Given the description of an element on the screen output the (x, y) to click on. 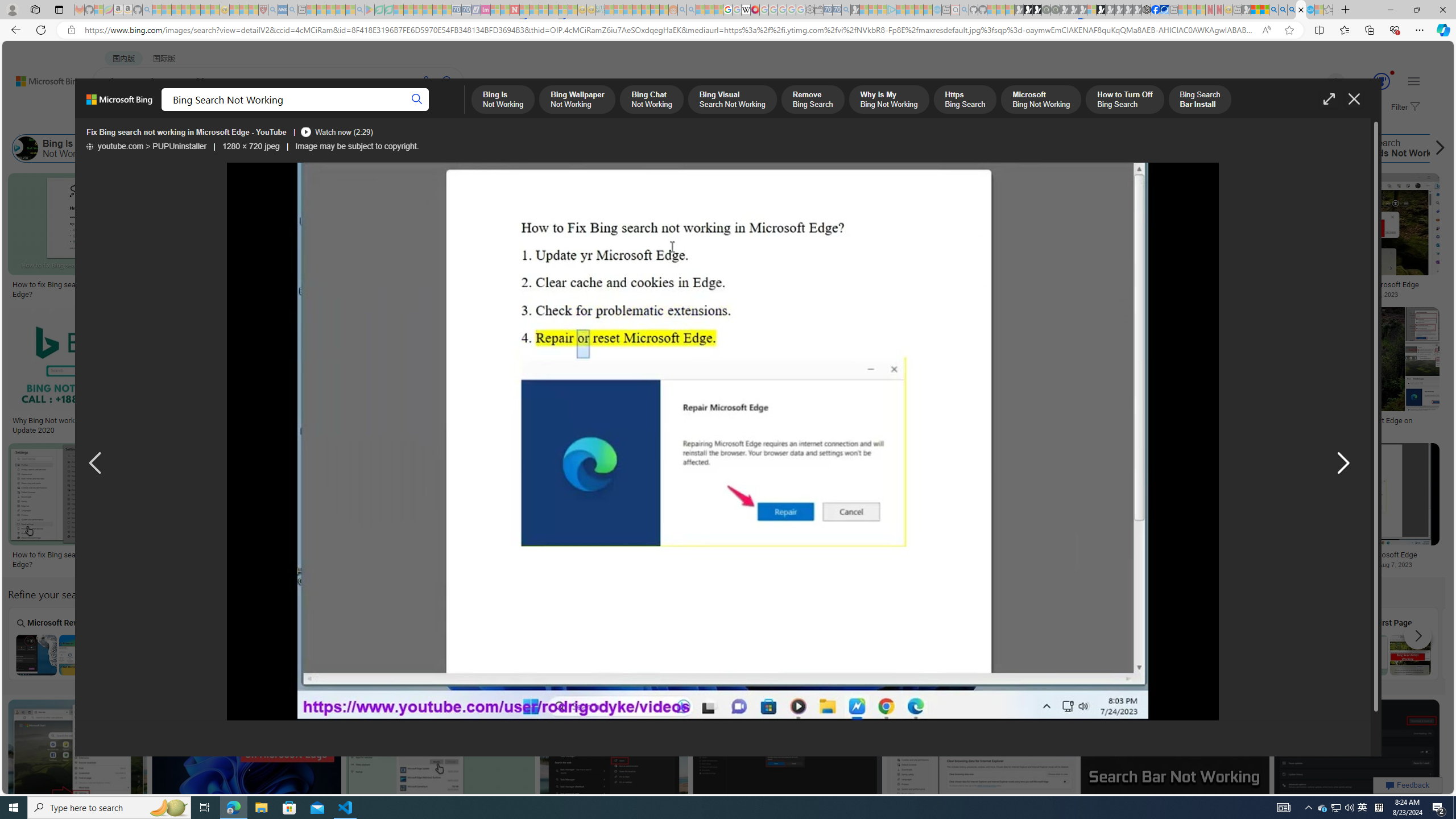
Image may be subject to copyright. (357, 146)
Bing Wallpaper Not Working (162, 148)
Bing Is Not Working (58, 148)
Bing Exact Search Not Working (978, 655)
MORE (451, 111)
Bing Search Not Working On My Tablet My Tablet (160, 643)
Bing Bong Plush Toy (804, 246)
5:17 (1098, 709)
